Given the description of an element on the screen output the (x, y) to click on. 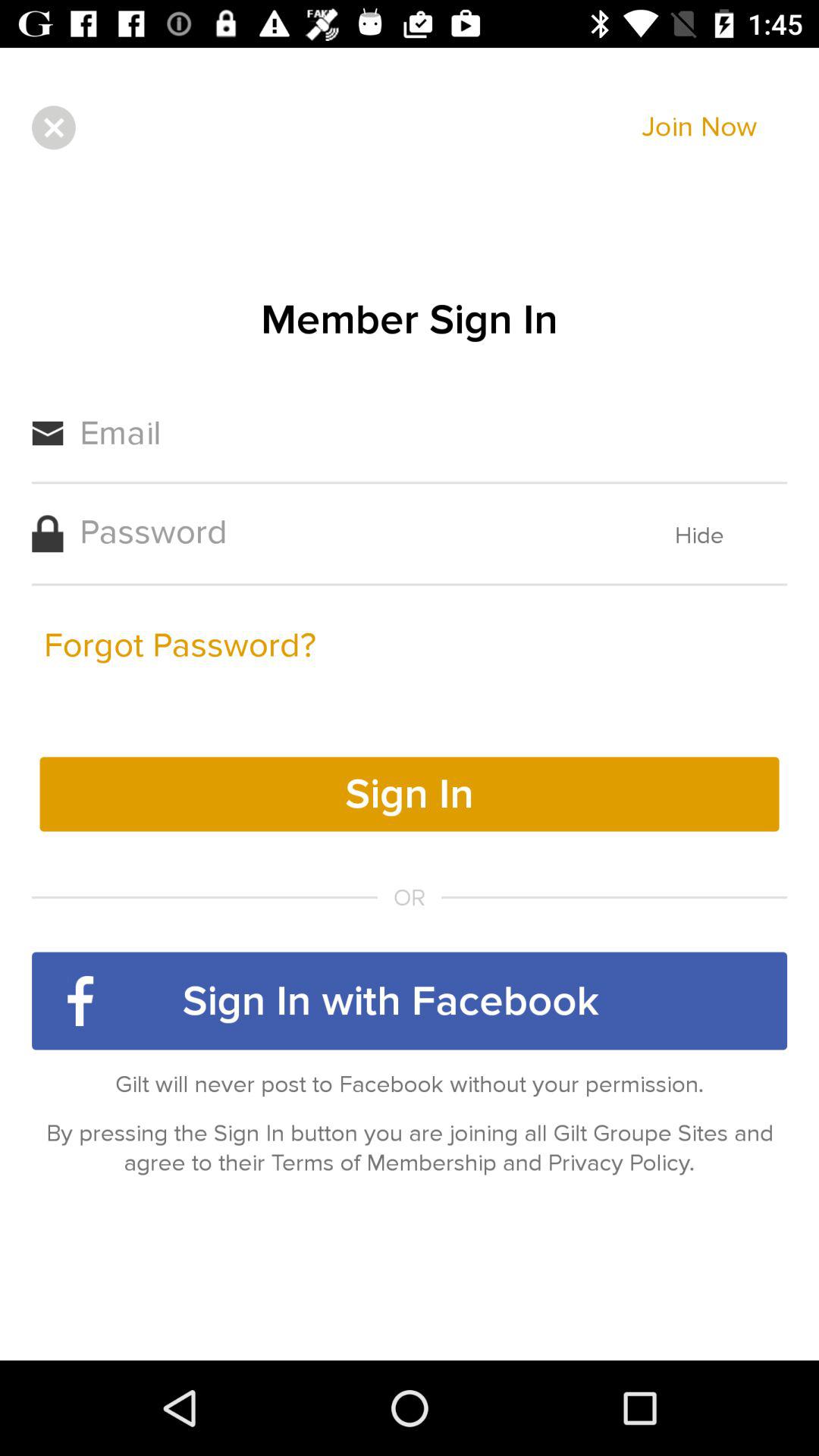
turn off the hide item (699, 535)
